Given the description of an element on the screen output the (x, y) to click on. 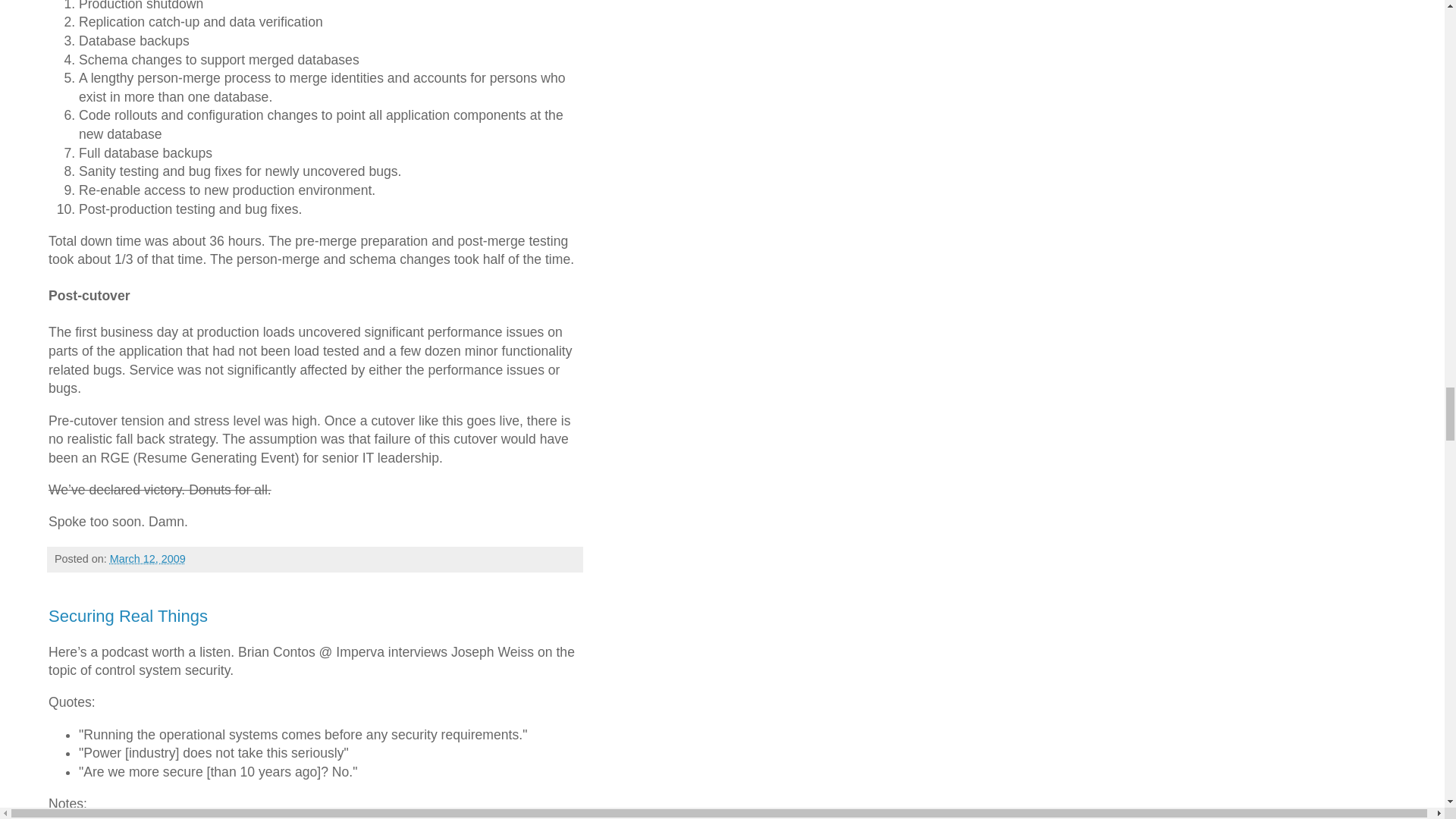
March 12, 2009 (148, 558)
permanent link (148, 558)
Securing Real Things (128, 615)
